Given the description of an element on the screen output the (x, y) to click on. 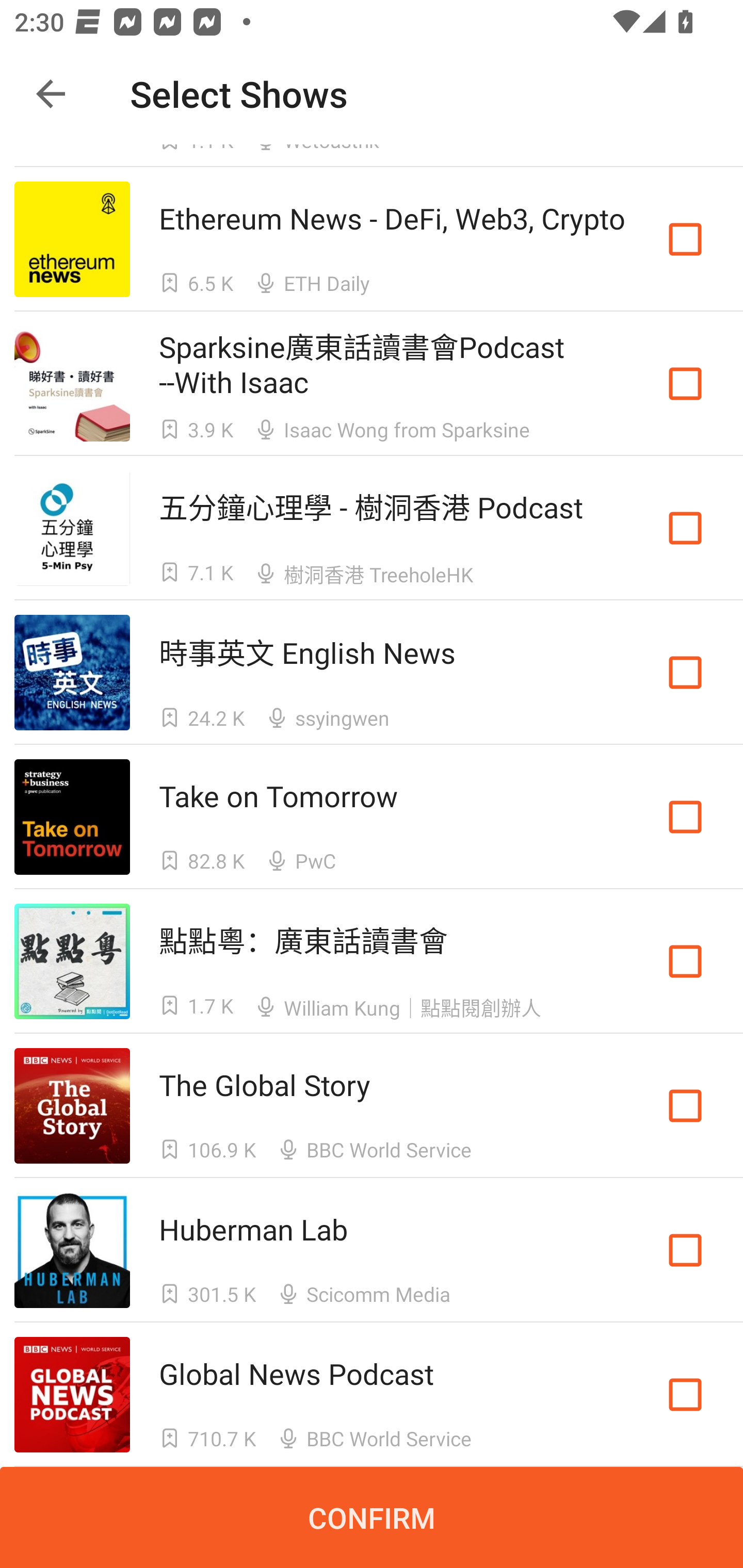
Navigate up (50, 93)
Take on Tomorrow Take on Tomorrow  82.8 K  PwC (371, 816)
CONFIRM (371, 1517)
